Given the description of an element on the screen output the (x, y) to click on. 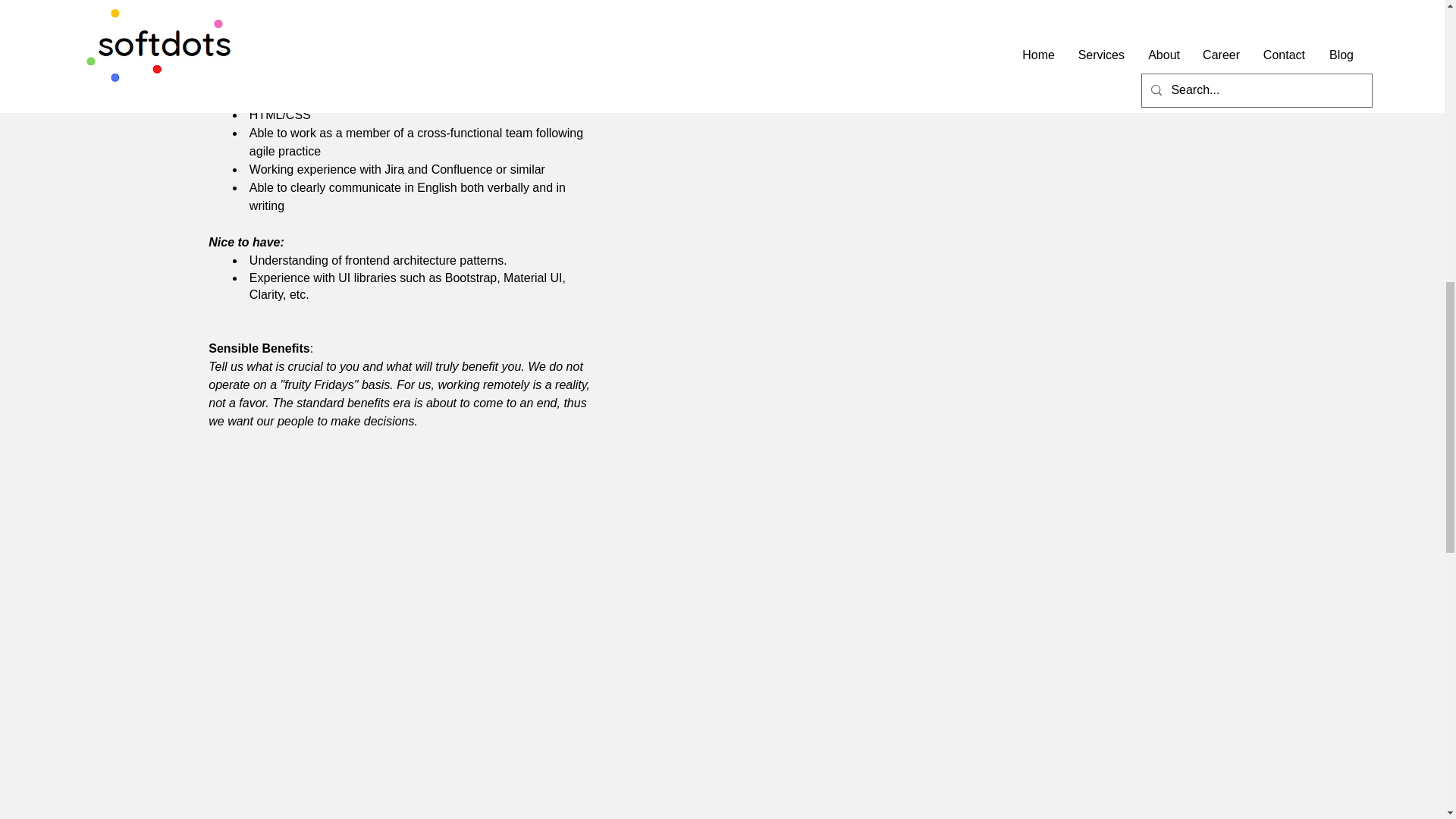
Apply (859, 9)
